Given the description of an element on the screen output the (x, y) to click on. 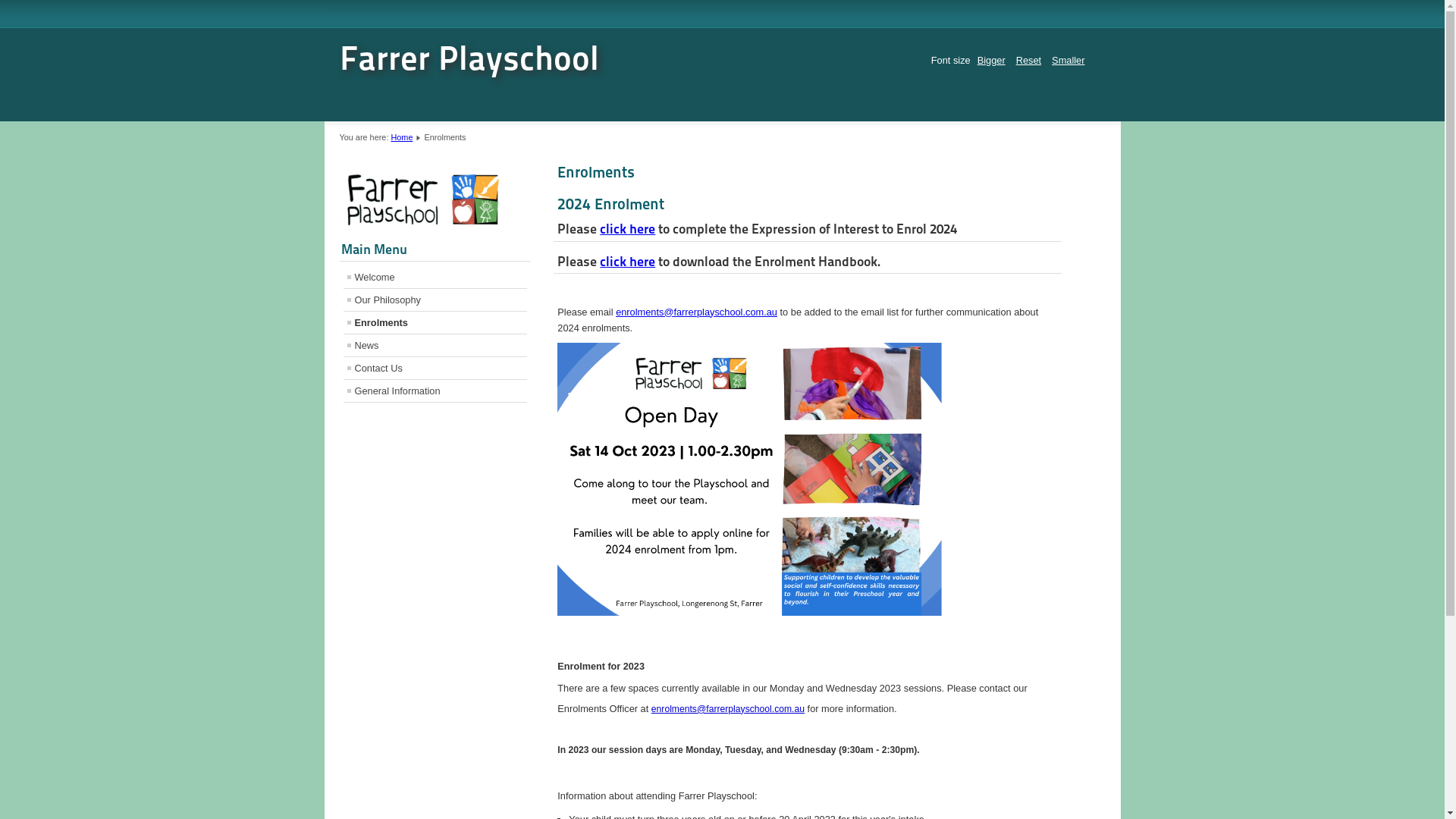
click here Element type: text (627, 228)
enrolments@farrerplayschool.com.au Element type: text (727, 708)
General Information Element type: text (434, 390)
News Element type: text (434, 345)
Our Philosophy Element type: text (434, 299)
Contact Us Element type: text (434, 368)
Reset Element type: text (1028, 59)
enrolments@farrerplayschool.com.au Element type: text (696, 311)
Home Element type: text (401, 136)
Bigger Element type: text (991, 59)
click here Element type: text (627, 261)
Smaller Element type: text (1068, 59)
Enrolments Element type: text (434, 322)
Welcome Element type: text (434, 277)
